Given the description of an element on the screen output the (x, y) to click on. 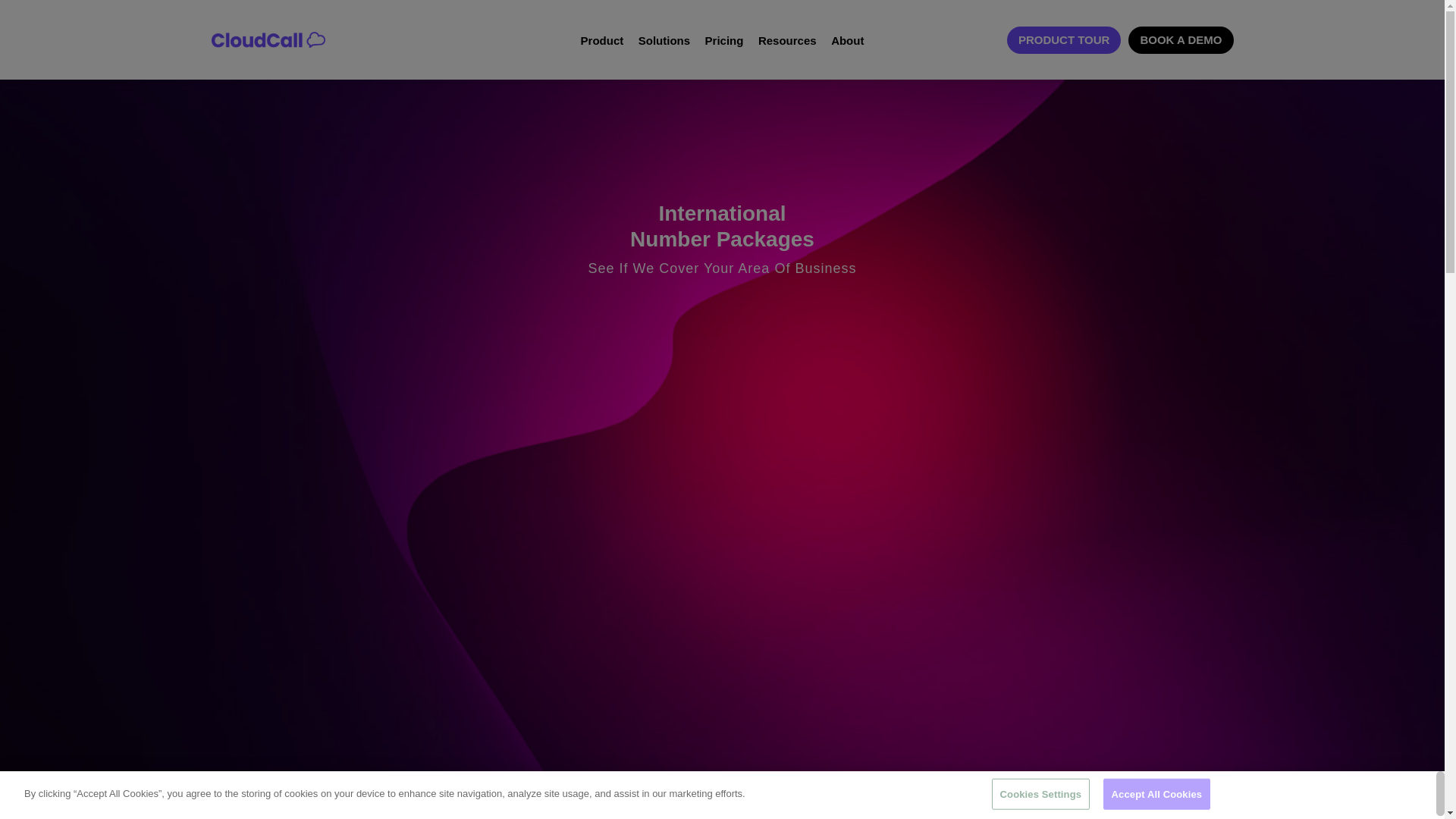
Solutions (663, 39)
Product (601, 39)
